Given the description of an element on the screen output the (x, y) to click on. 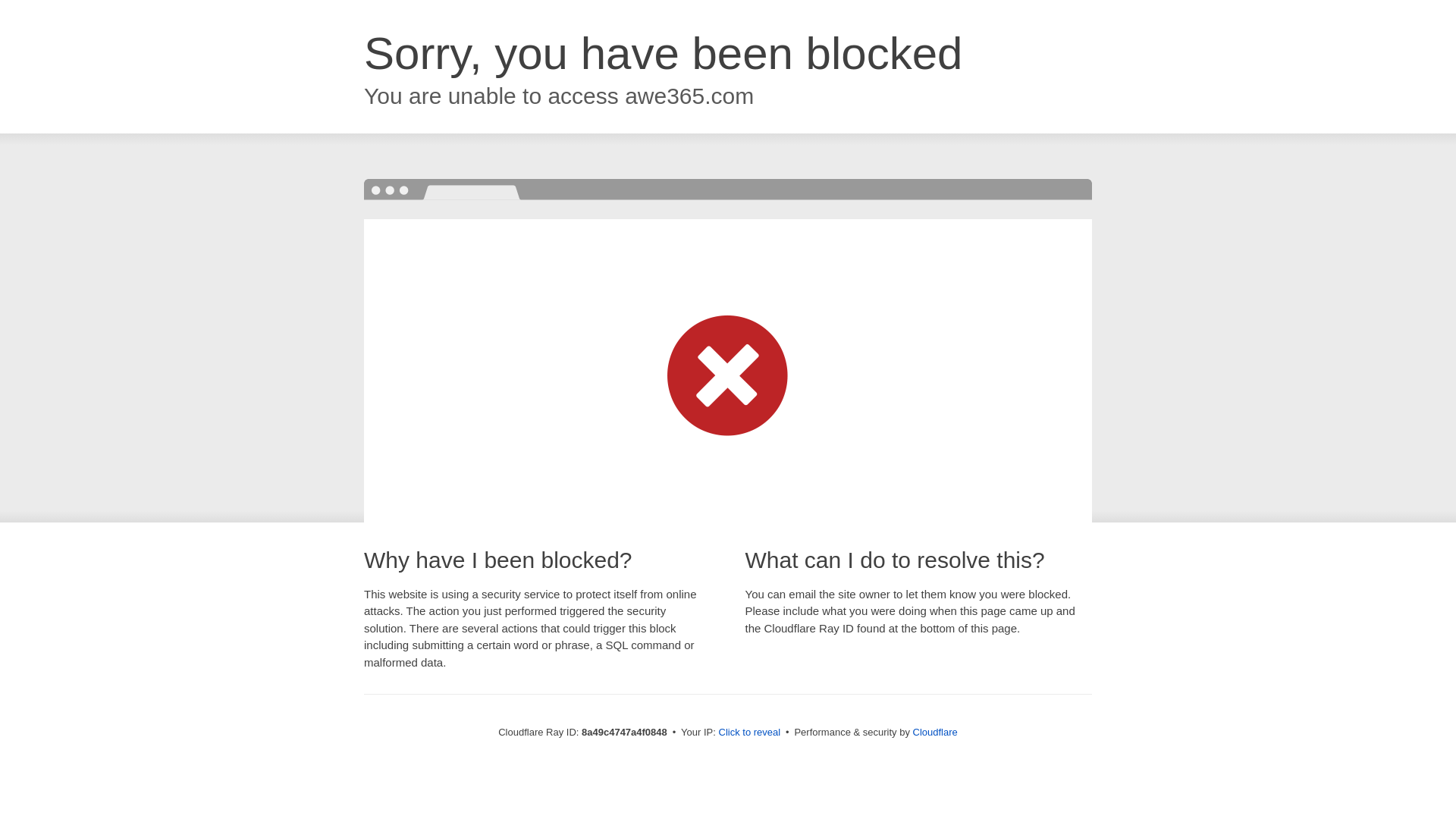
Click to reveal (749, 732)
Cloudflare (935, 731)
